Given the description of an element on the screen output the (x, y) to click on. 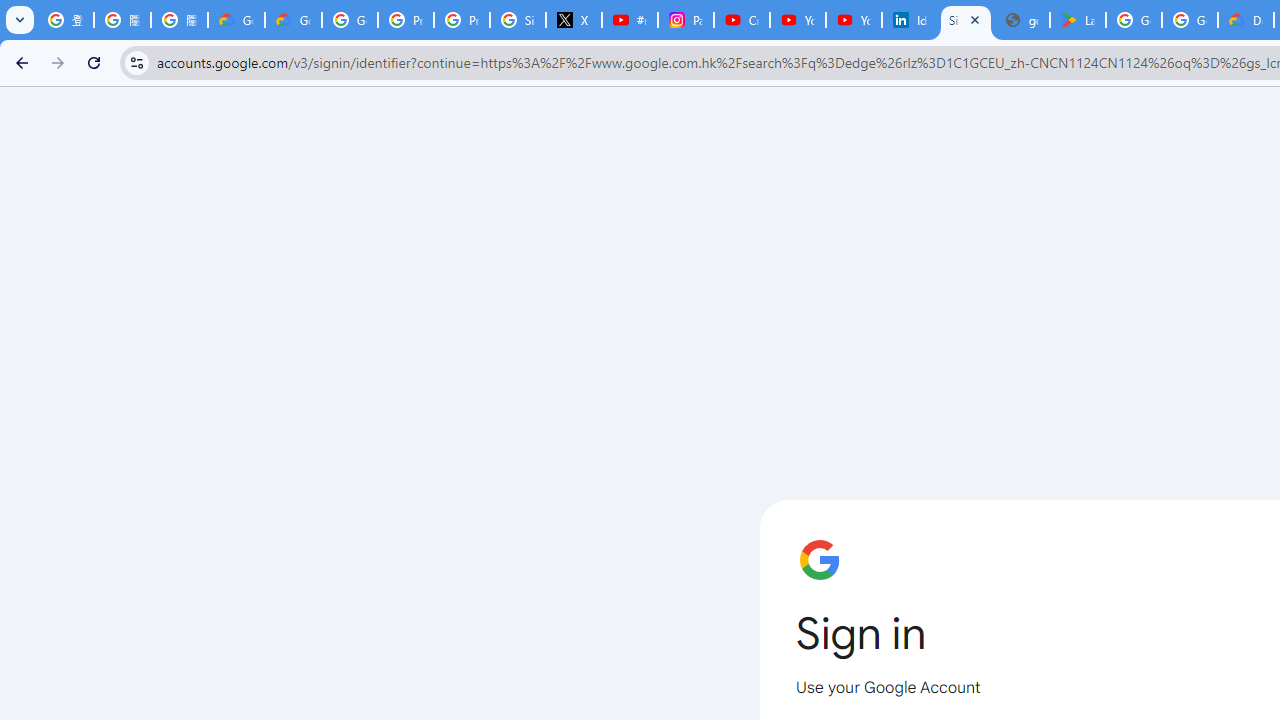
Last Shelter: Survival - Apps on Google Play (1077, 20)
Google Cloud Privacy Notice (235, 20)
#nbabasketballhighlights - YouTube (629, 20)
YouTube Culture & Trends - YouTube Top 10, 2021 (853, 20)
